Given the description of an element on the screen output the (x, y) to click on. 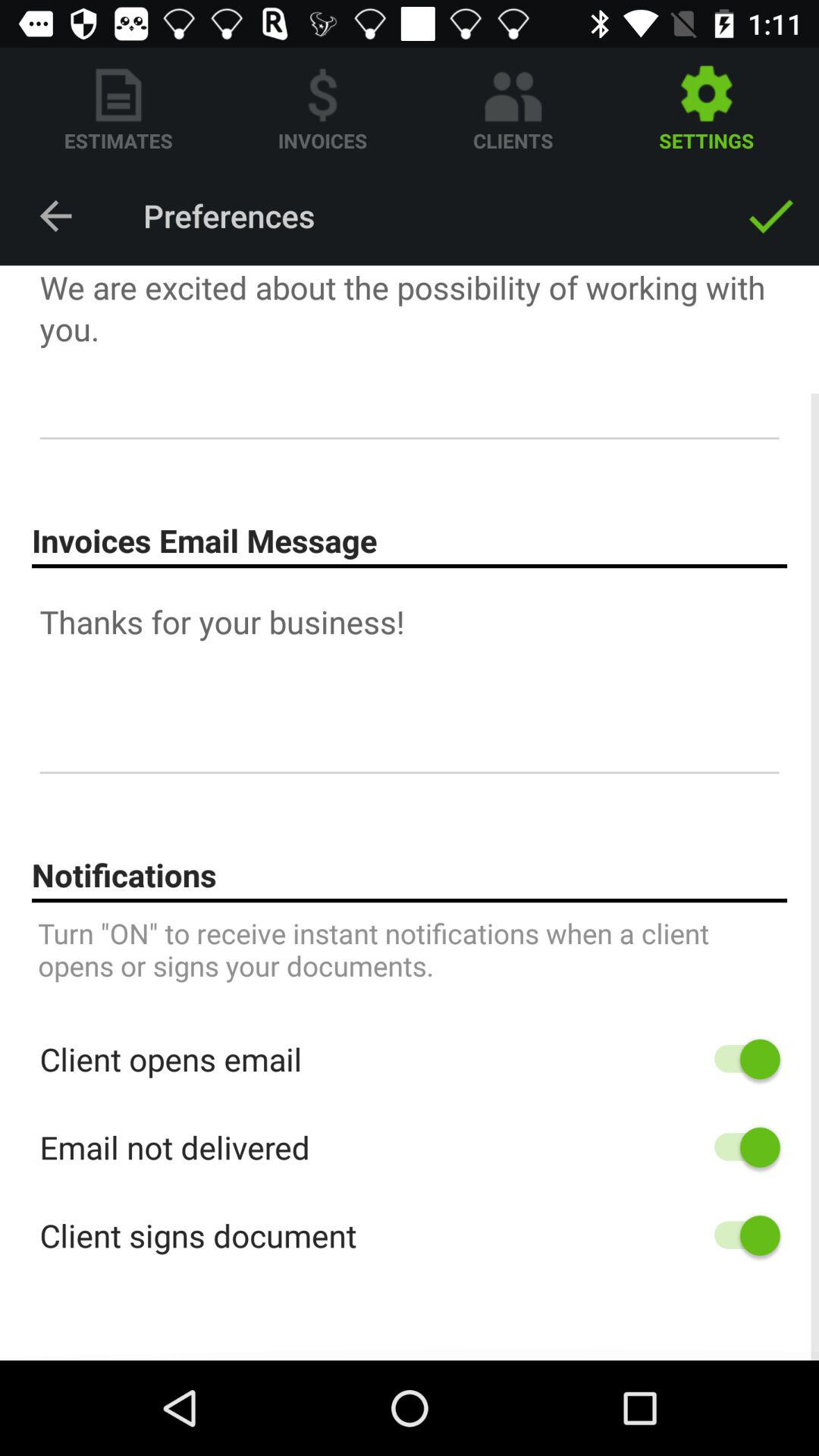
email toggle (739, 1147)
